Given the description of an element on the screen output the (x, y) to click on. 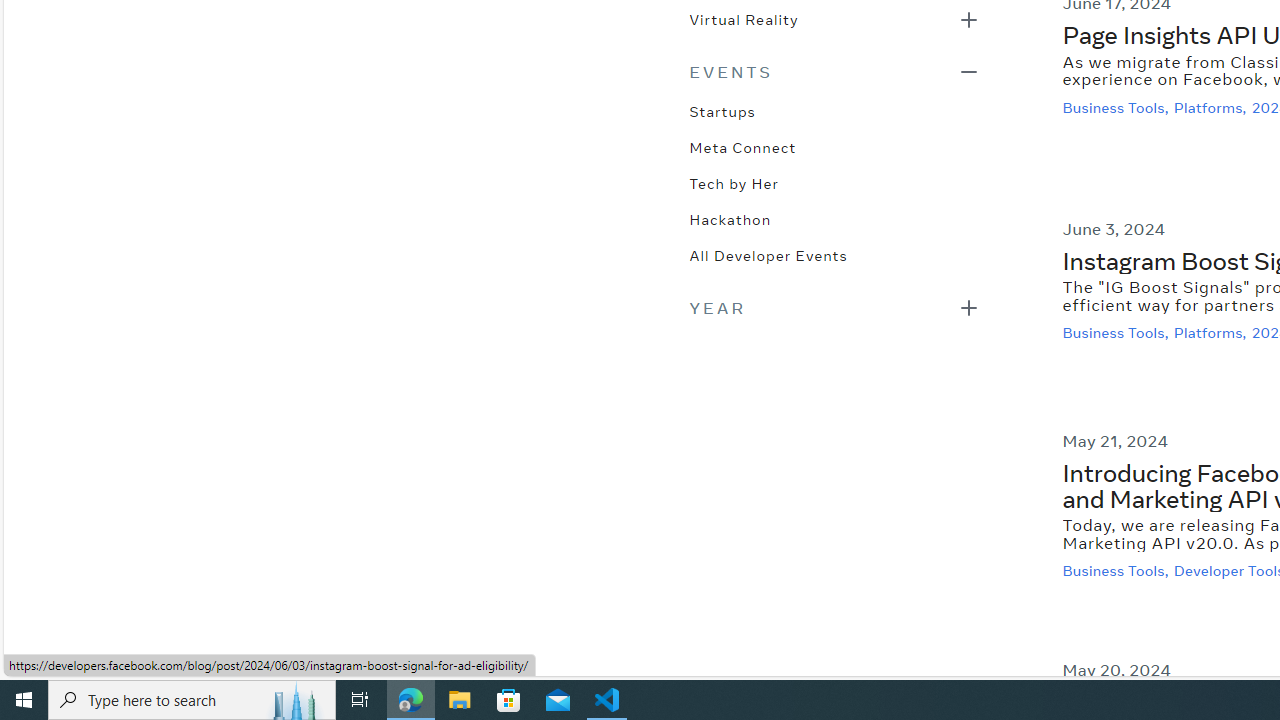
Hackathon (729, 217)
Tech by Her (733, 181)
Class: _9890 _98ez (834, 307)
Class: _98ex (834, 261)
Meta Connect (742, 145)
Business Tools, (1117, 571)
All Developer Events (767, 253)
Startups (722, 109)
Class: _98ex _98ez (834, 25)
Class: _9890 _98ey (834, 71)
Virtual Reality (743, 17)
Platforms, (1211, 333)
